Given the description of an element on the screen output the (x, y) to click on. 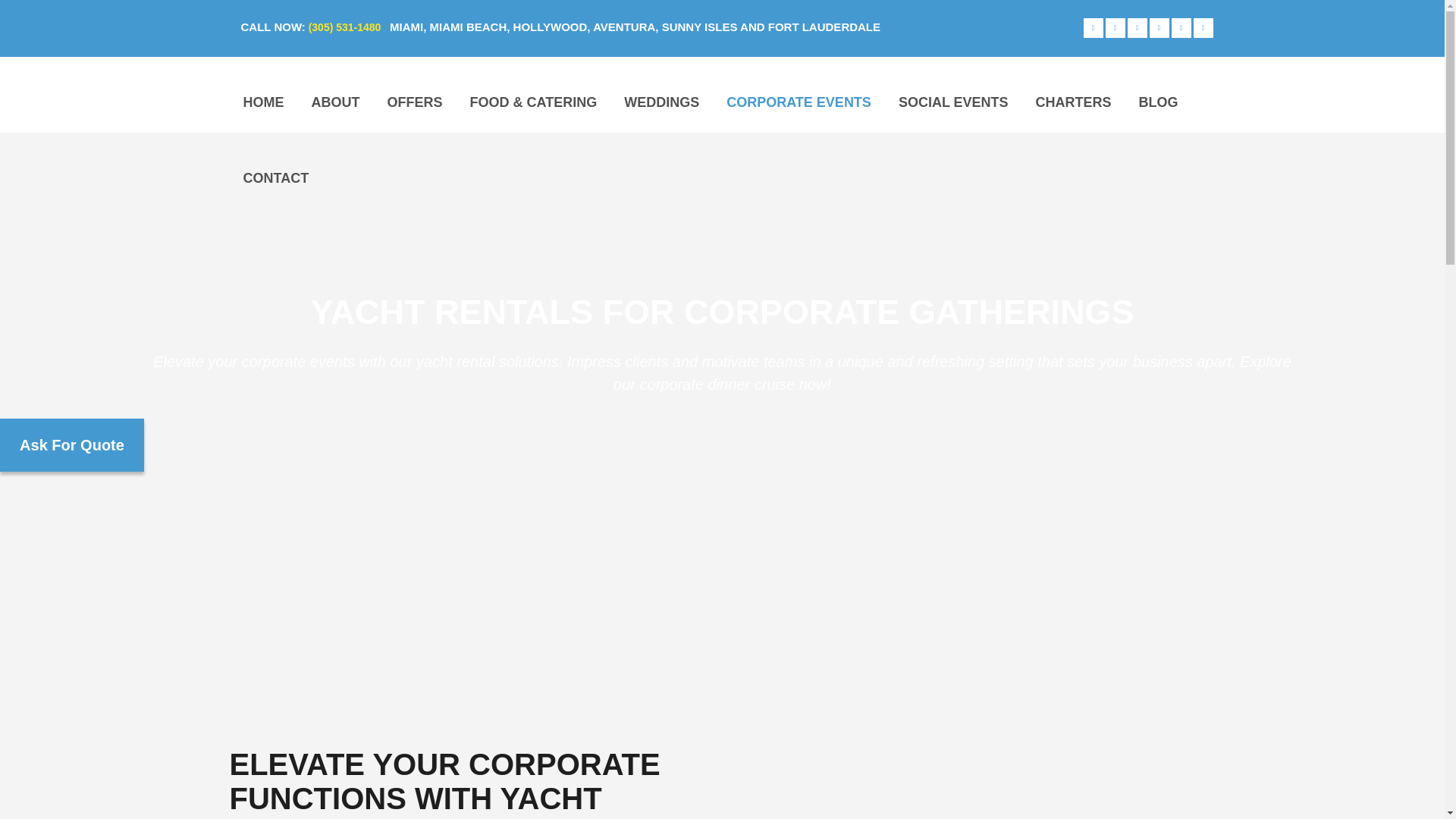
Contact (274, 178)
Corporate Events Yacht Rental-side-image-1 (983, 751)
OFFERS (413, 102)
SOCIAL EVENTS (953, 102)
ABOUT (334, 102)
Offers (413, 102)
About (334, 102)
HOME (262, 102)
CONTACT (274, 178)
CORPORATE EVENTS (799, 102)
